Given the description of an element on the screen output the (x, y) to click on. 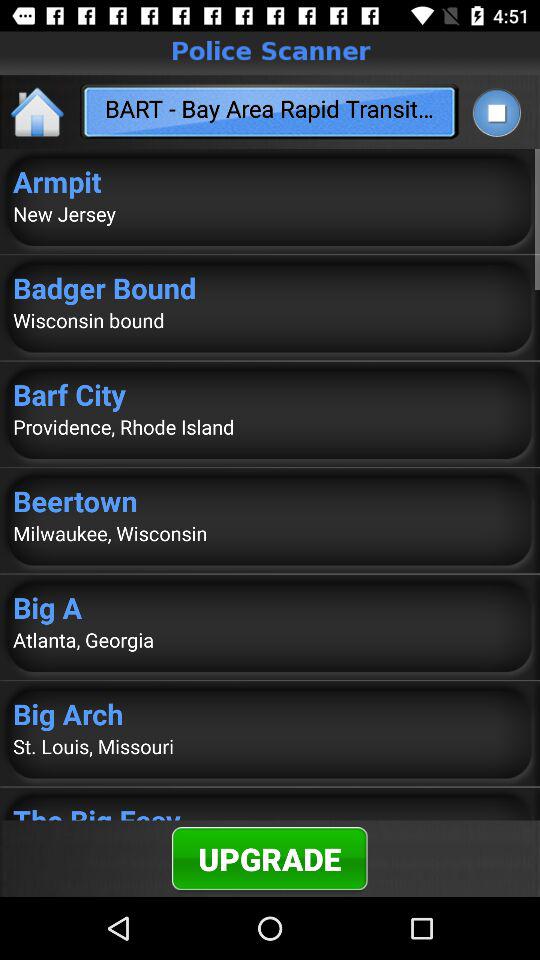
select the barf city icon (269, 394)
